Given the description of an element on the screen output the (x, y) to click on. 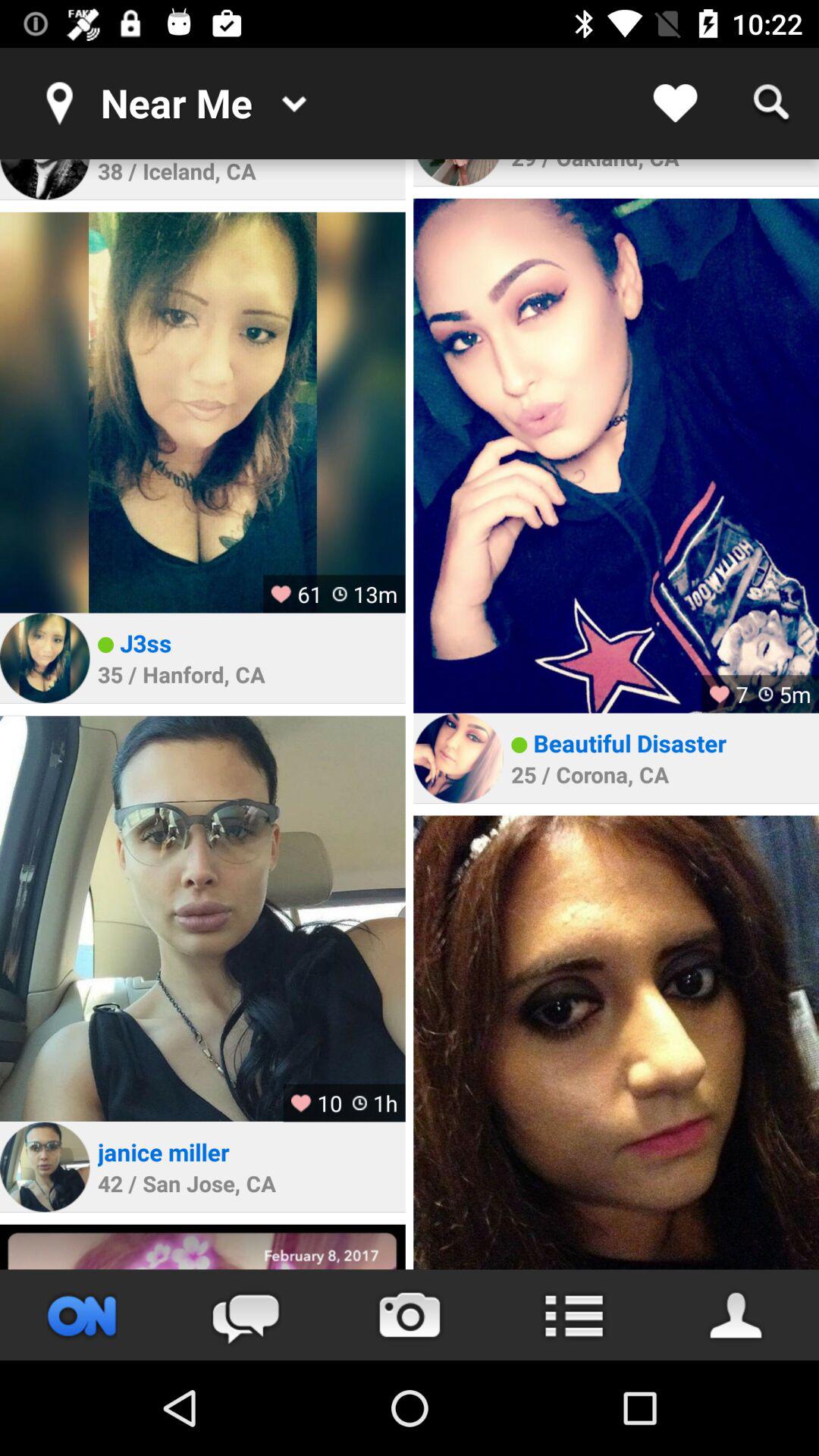
view profile (44, 657)
